Given the description of an element on the screen output the (x, y) to click on. 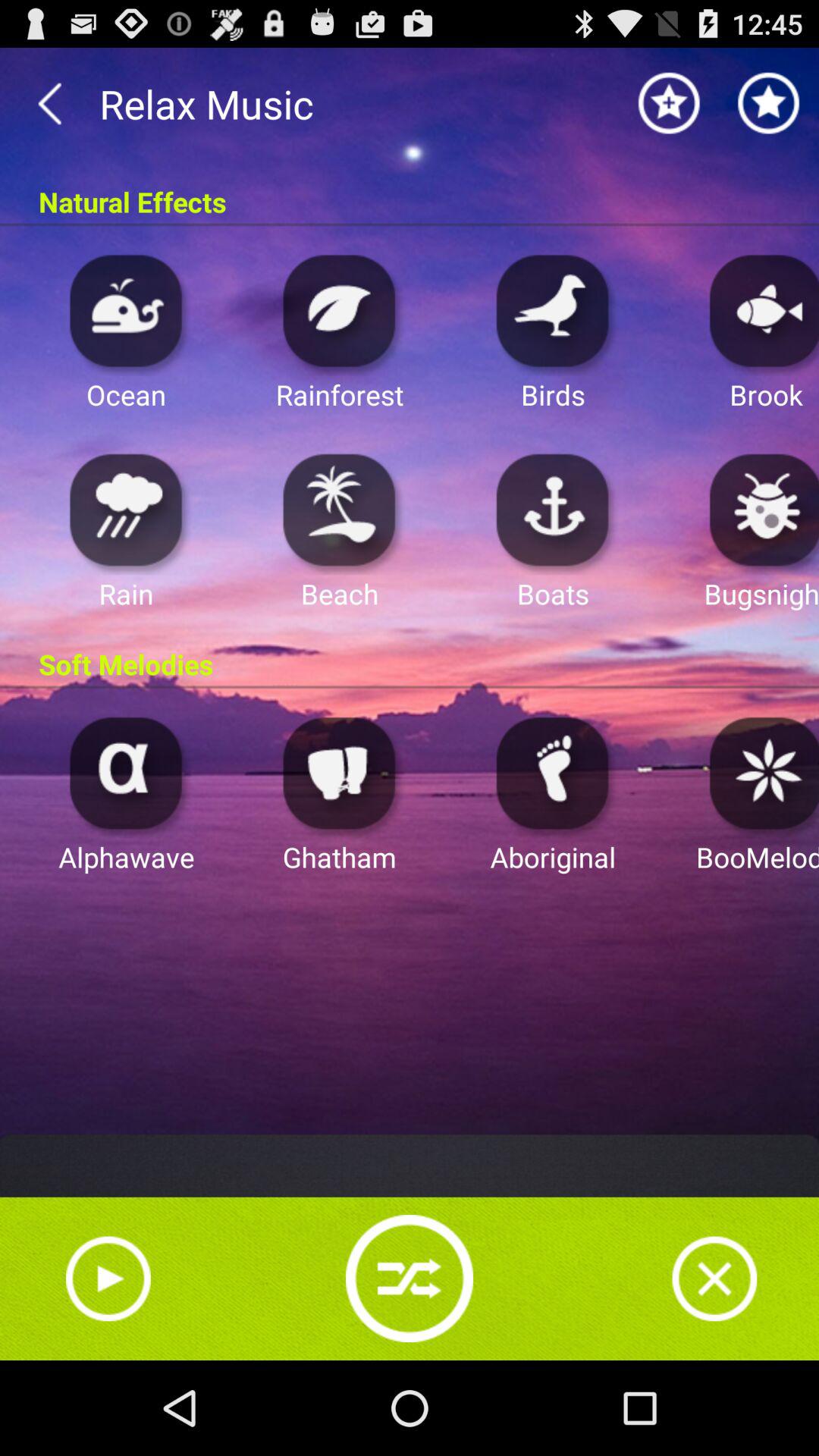
ocean (126, 309)
